Given the description of an element on the screen output the (x, y) to click on. 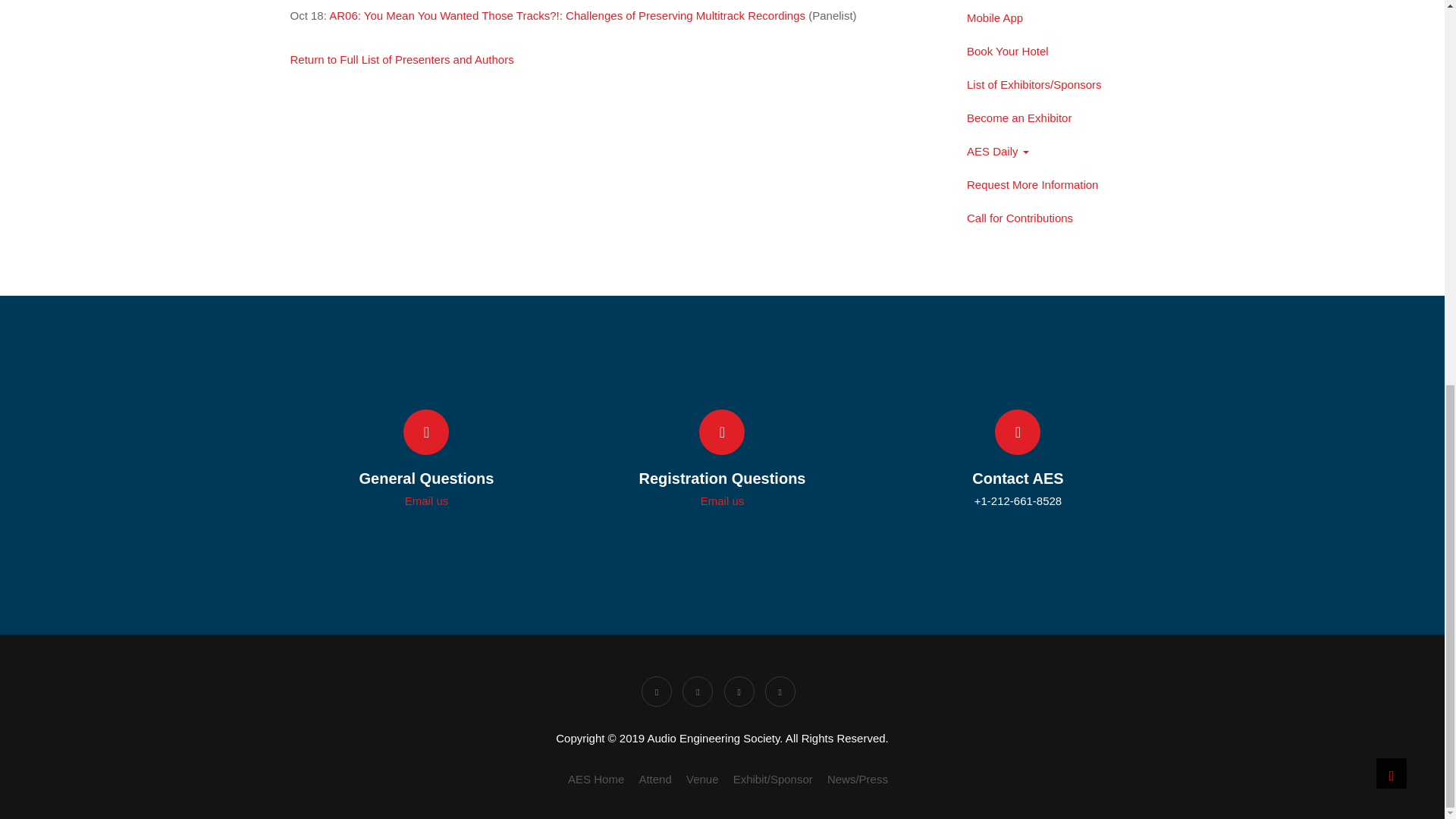
Back to Top (1390, 47)
